Given the description of an element on the screen output the (x, y) to click on. 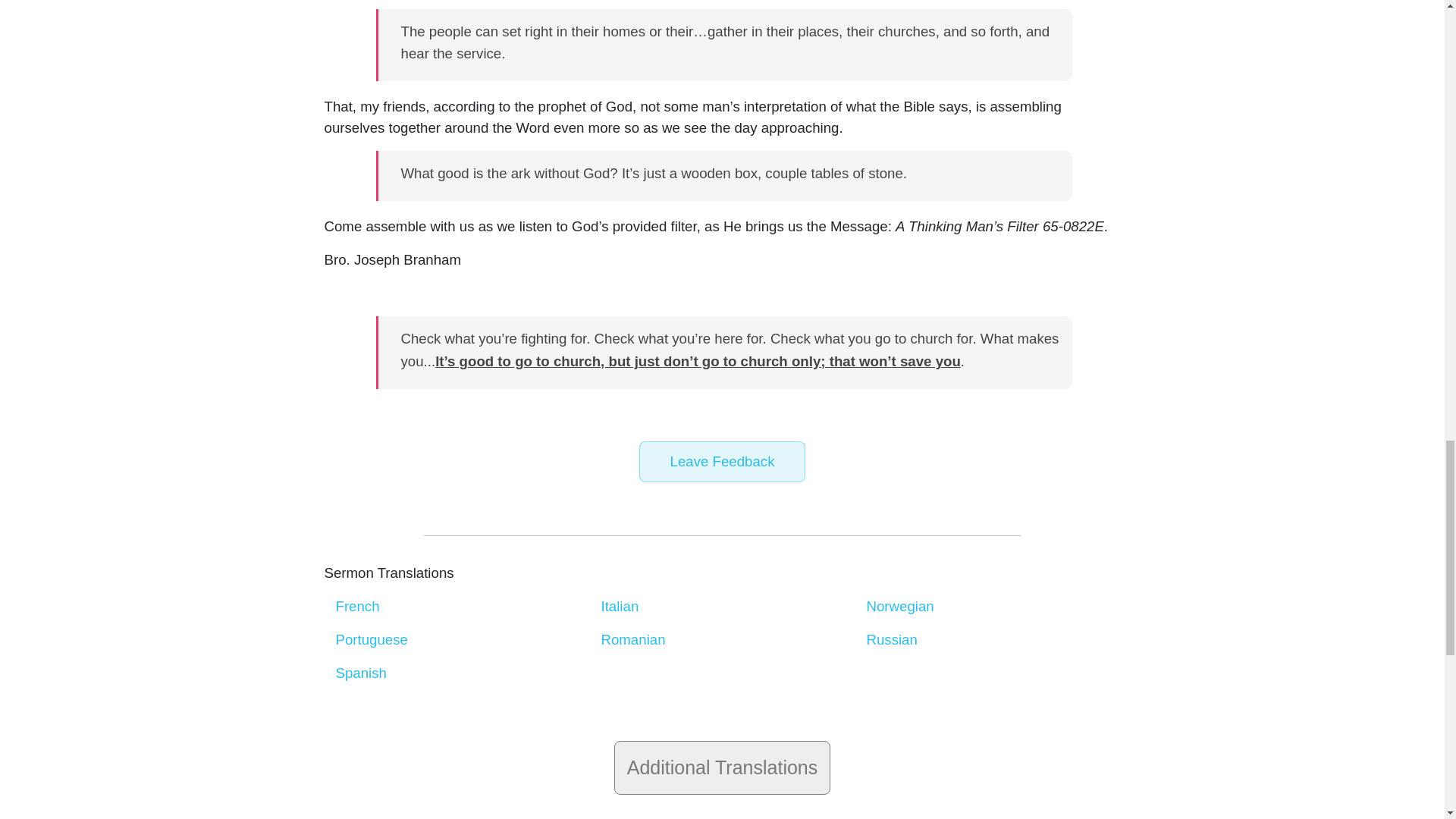
French (356, 606)
Additional Translations (722, 768)
Russian (891, 639)
Italian (619, 606)
Leave Feedback (722, 461)
Portuguese (370, 639)
Romanian (632, 639)
Spanish (359, 672)
Norwegian (899, 606)
